Given the description of an element on the screen output the (x, y) to click on. 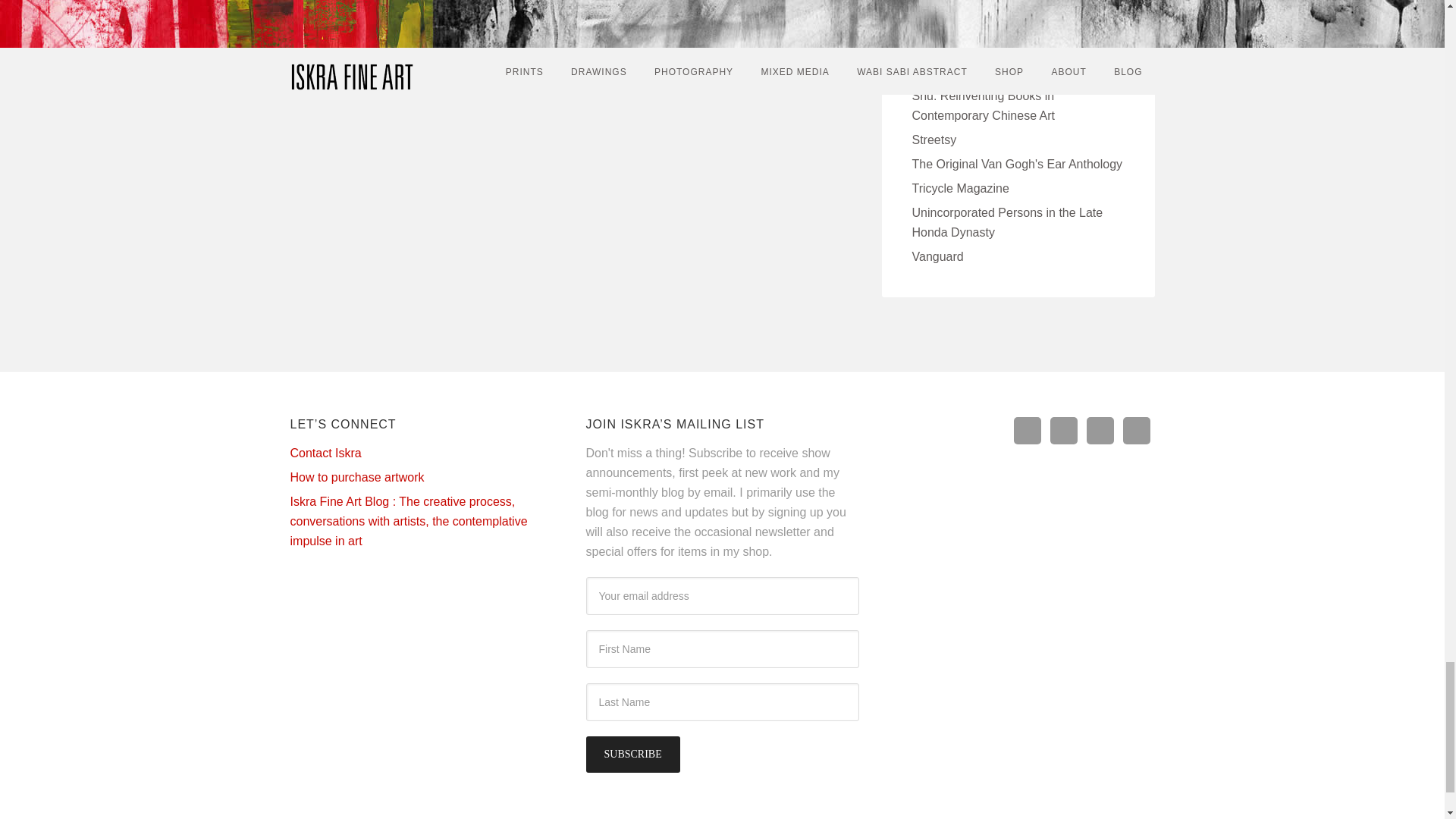
Subscribe (632, 754)
